Given the description of an element on the screen output the (x, y) to click on. 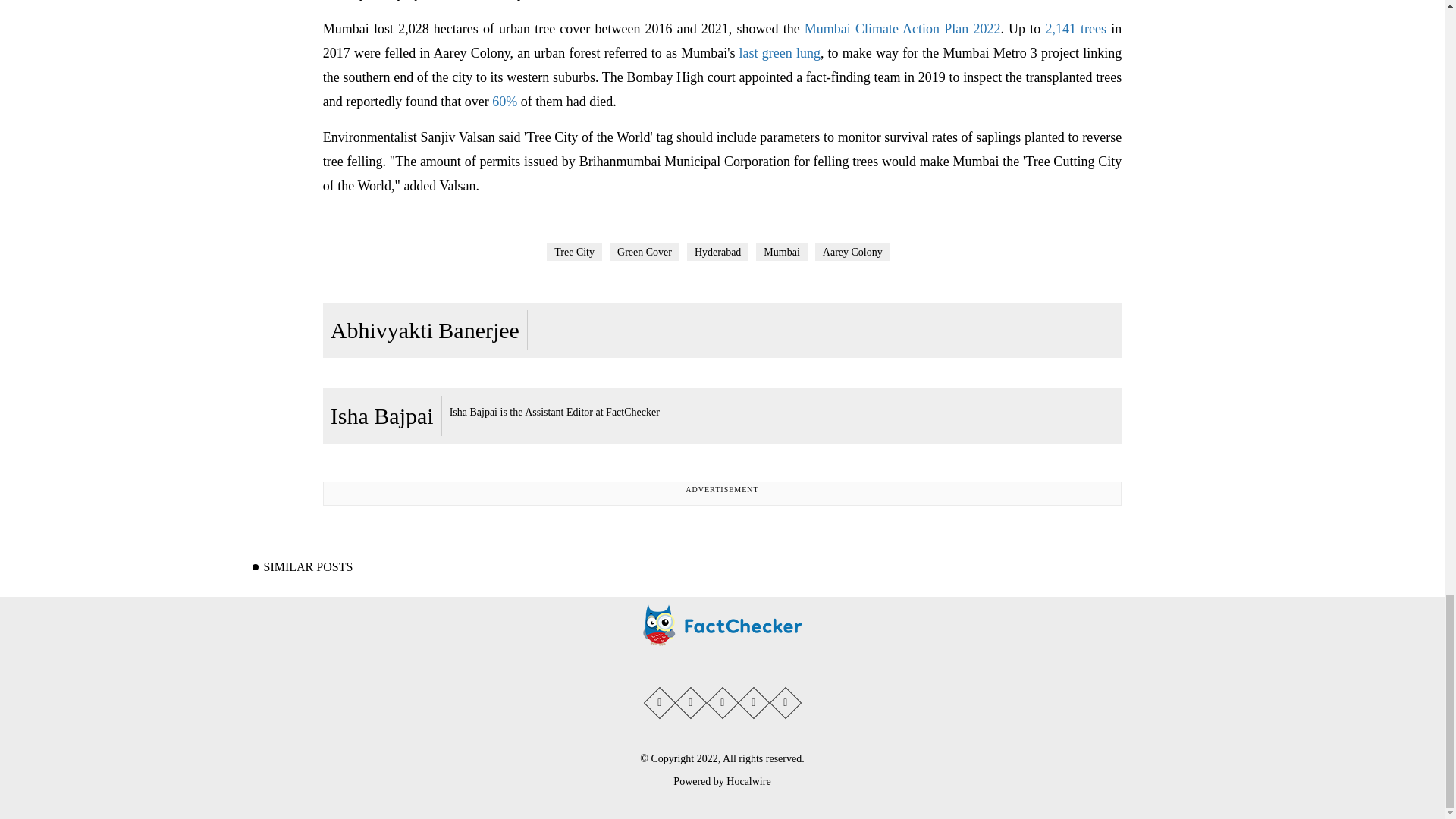
Factchecker (722, 625)
